Given the description of an element on the screen output the (x, y) to click on. 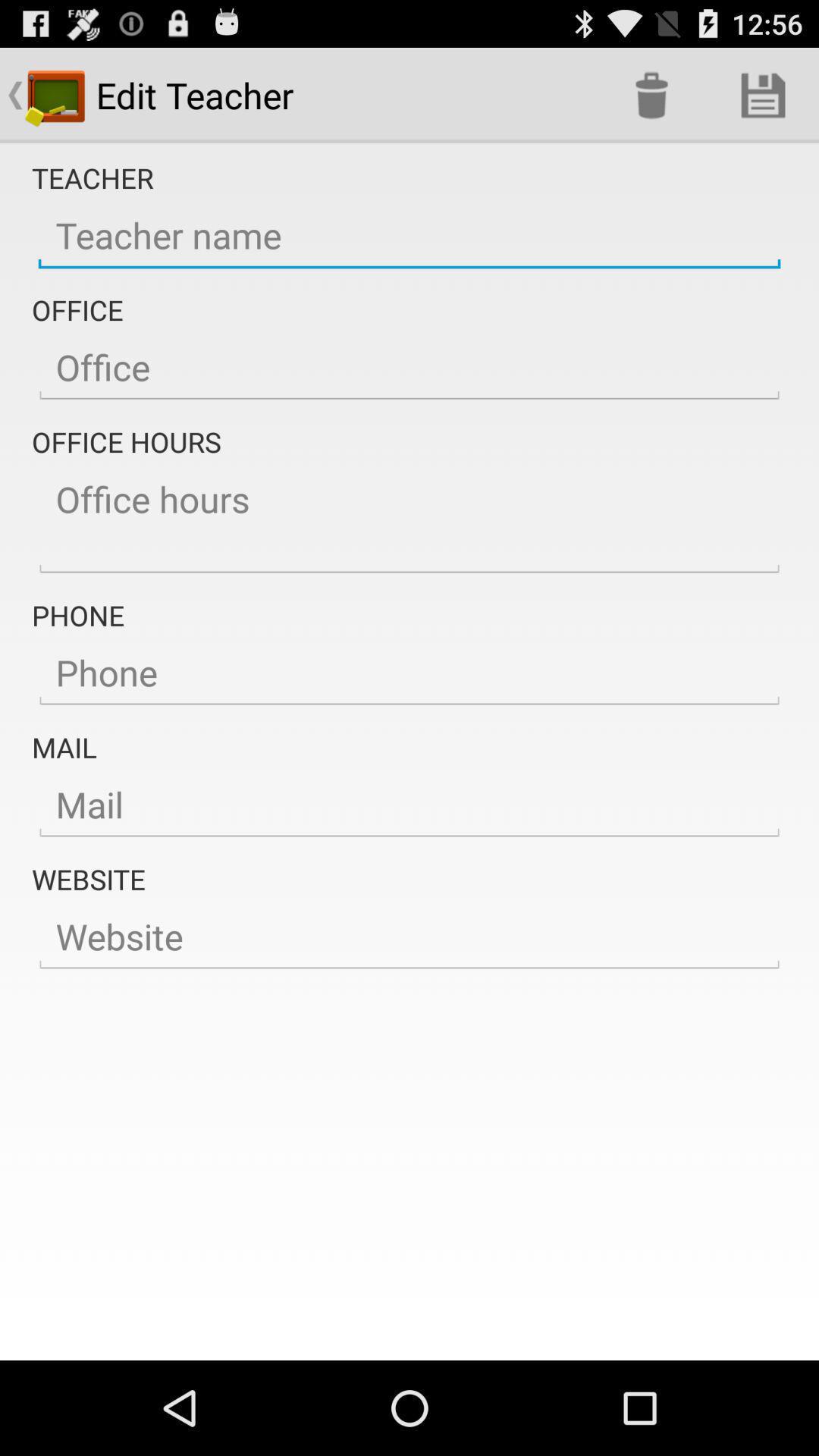
select office hours field (409, 520)
